Given the description of an element on the screen output the (x, y) to click on. 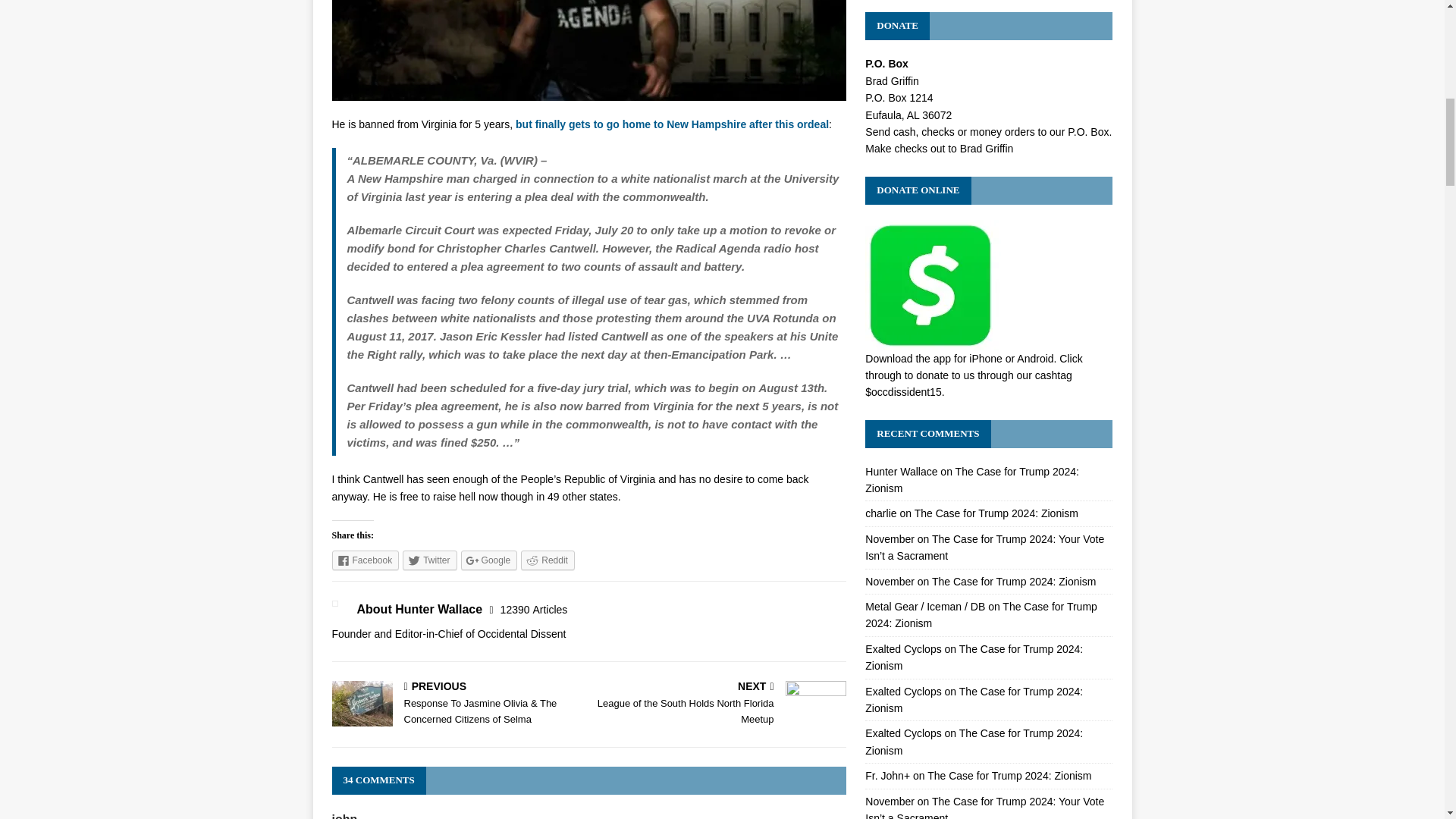
Twitter (430, 560)
12390 Articles (533, 609)
Click to share on Facebook (364, 560)
Click to share on Twitter (430, 560)
More articles written by Hunter Wallace' (533, 609)
Reddit (720, 704)
Click to share on Reddit (548, 560)
Facebook (548, 560)
Google (364, 560)
john (489, 560)
